Given the description of an element on the screen output the (x, y) to click on. 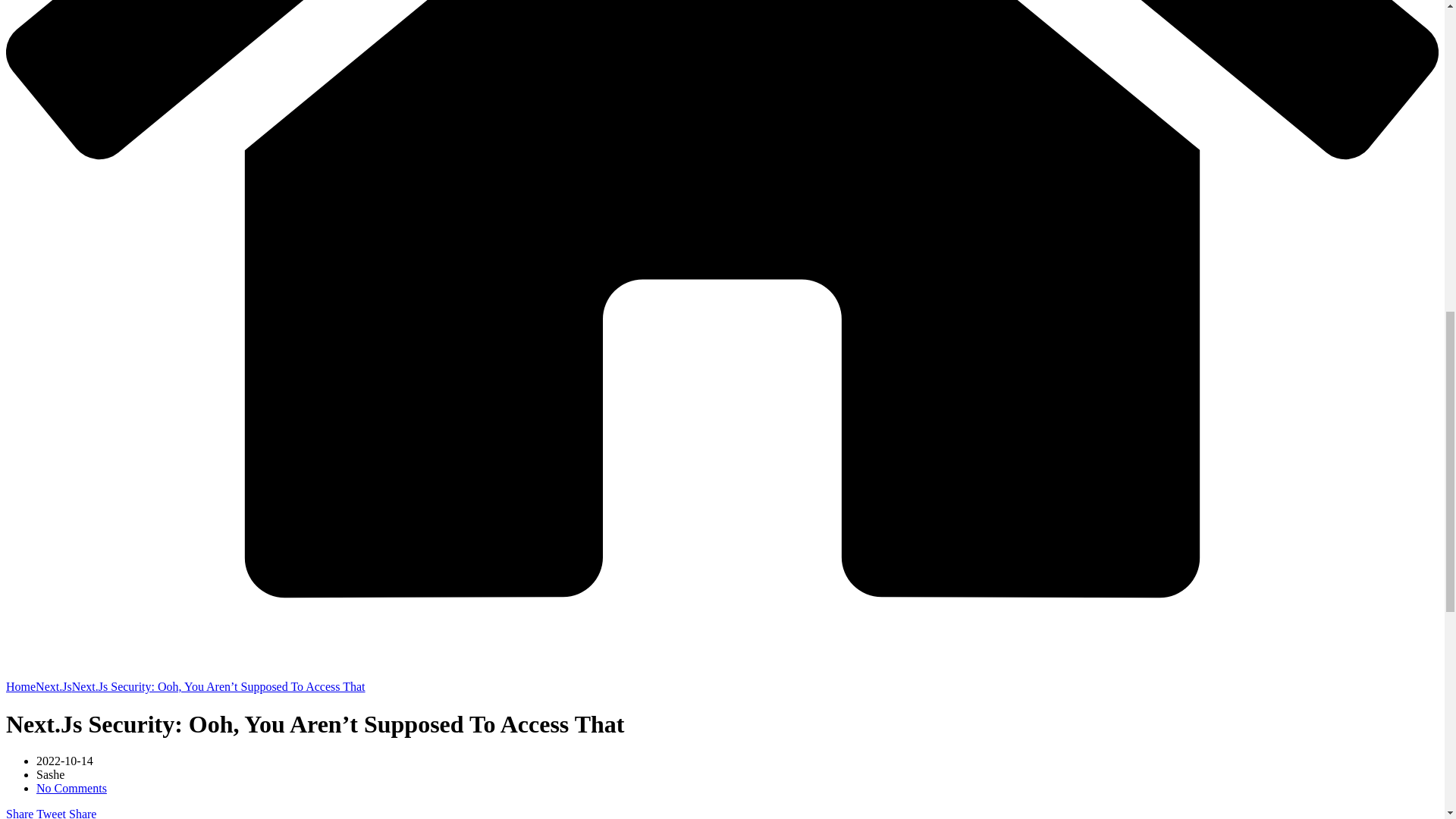
No Comments (71, 788)
Share (80, 813)
Share (19, 813)
Next.Js (52, 686)
Home (19, 686)
Tweet (49, 813)
Home (19, 686)
Next.Js (52, 686)
